Given the description of an element on the screen output the (x, y) to click on. 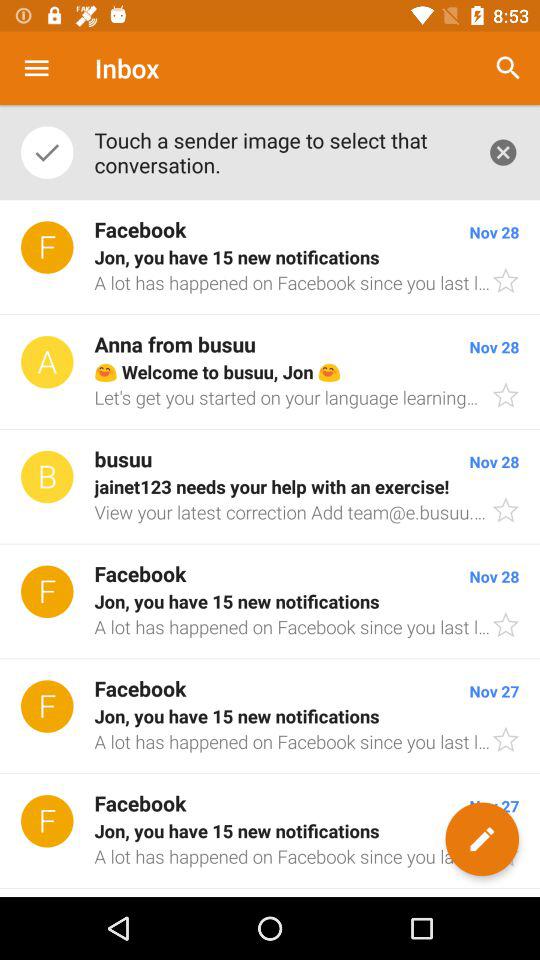
launch the item next to the touch a sender (508, 67)
